Given the description of an element on the screen output the (x, y) to click on. 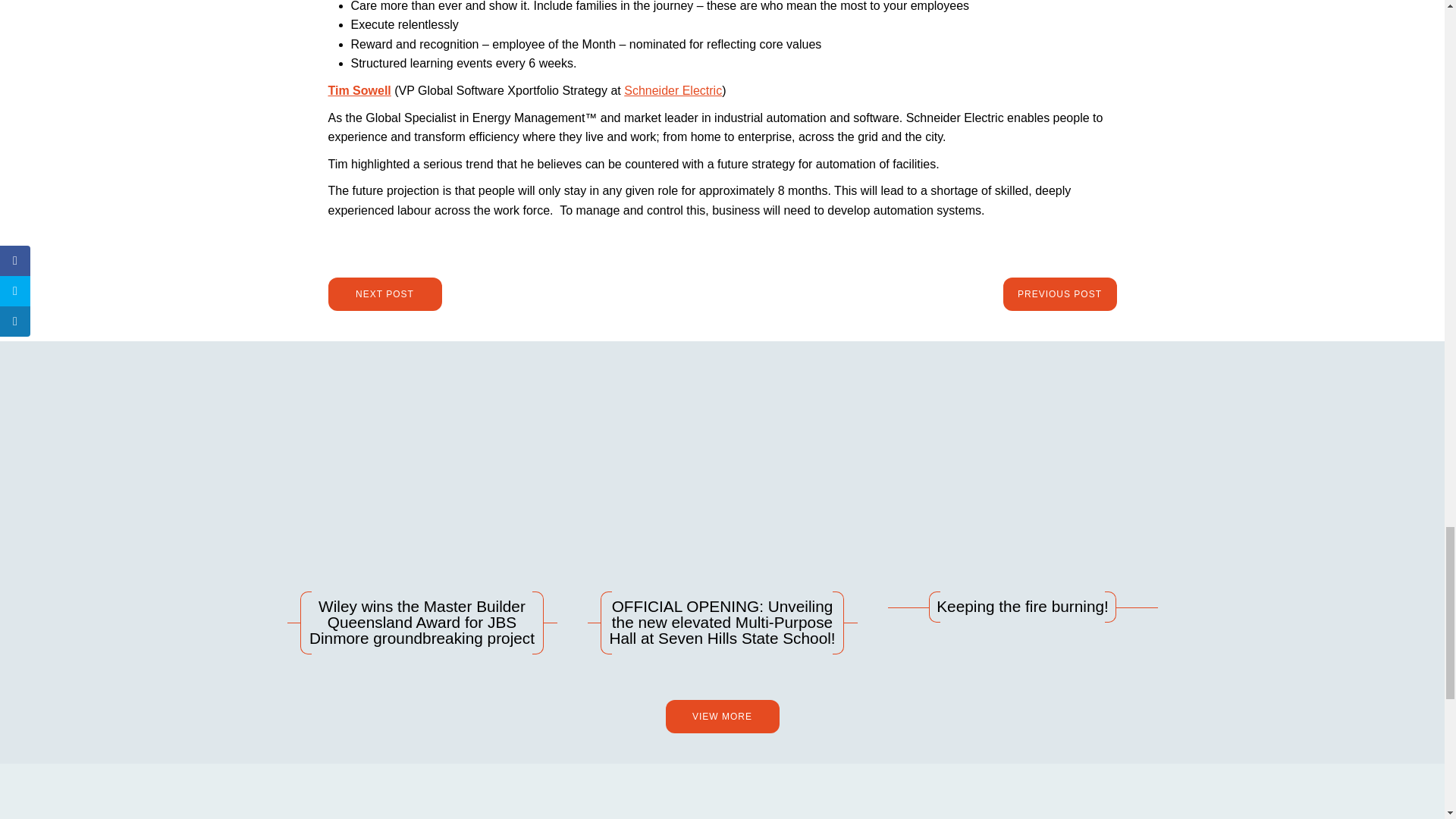
Schneider Electric (673, 90)
Keeping the fire burning! (1021, 504)
NEXT POST (384, 294)
Tim Sowell (358, 90)
PREVIOUS POST (1059, 294)
VIEW MORE (721, 716)
